Given the description of an element on the screen output the (x, y) to click on. 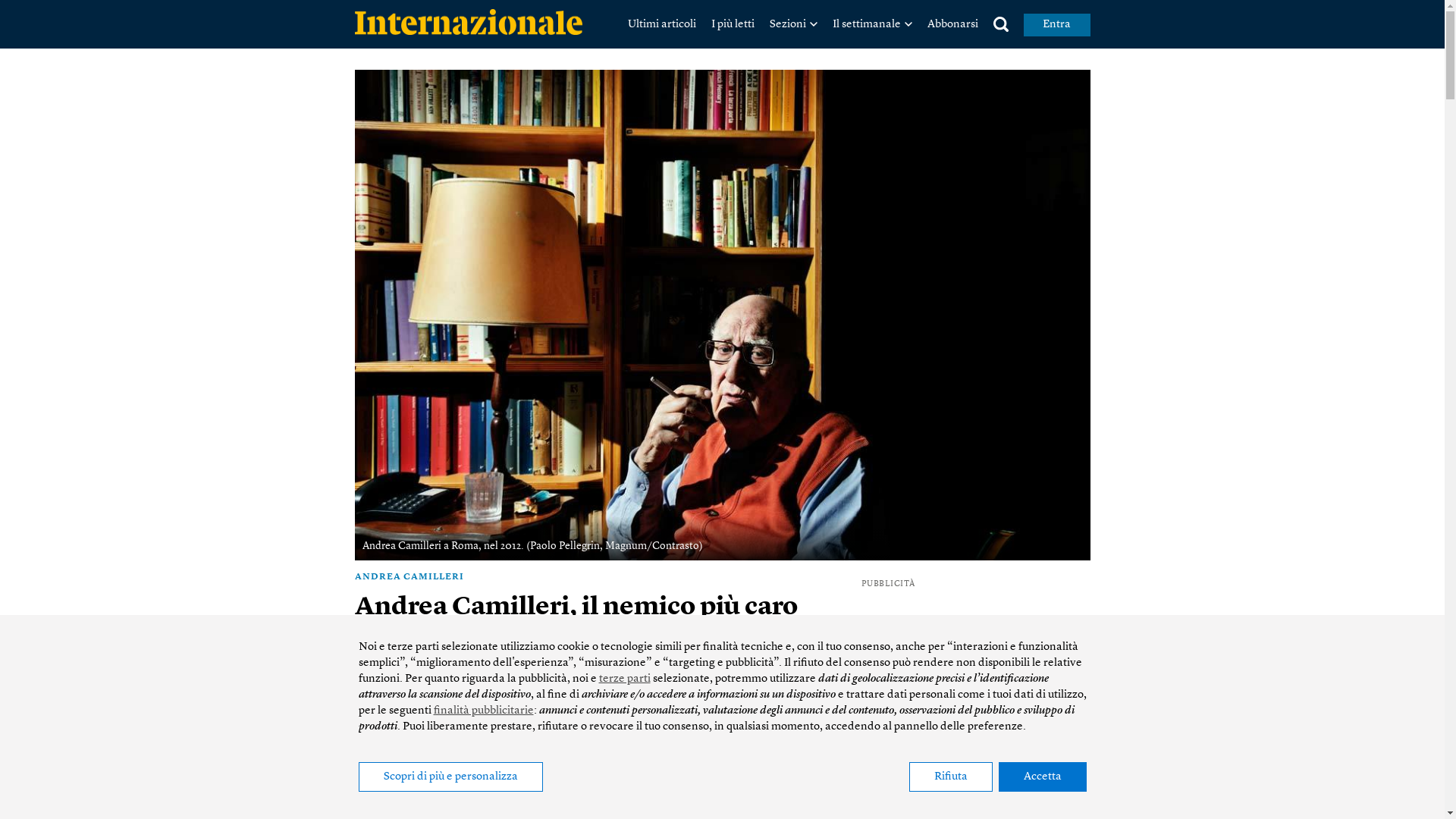
Il settimanale Element type: text (872, 24)
Ultimi articoli Element type: text (661, 24)
Facebook Element type: text (364, 695)
Rifiuta Element type: text (949, 776)
Email Element type: text (413, 695)
Accetta Element type: text (1041, 776)
terze parti Element type: text (624, 678)
ANDREA CAMILLERI Element type: text (595, 570)
Giuseppe Rizzo Element type: text (406, 639)
Print Element type: text (437, 695)
Twitter Element type: text (388, 695)
Entra Element type: text (1056, 24)
Abbonarsi Element type: text (951, 24)
Sezioni Element type: text (792, 24)
